Given the description of an element on the screen output the (x, y) to click on. 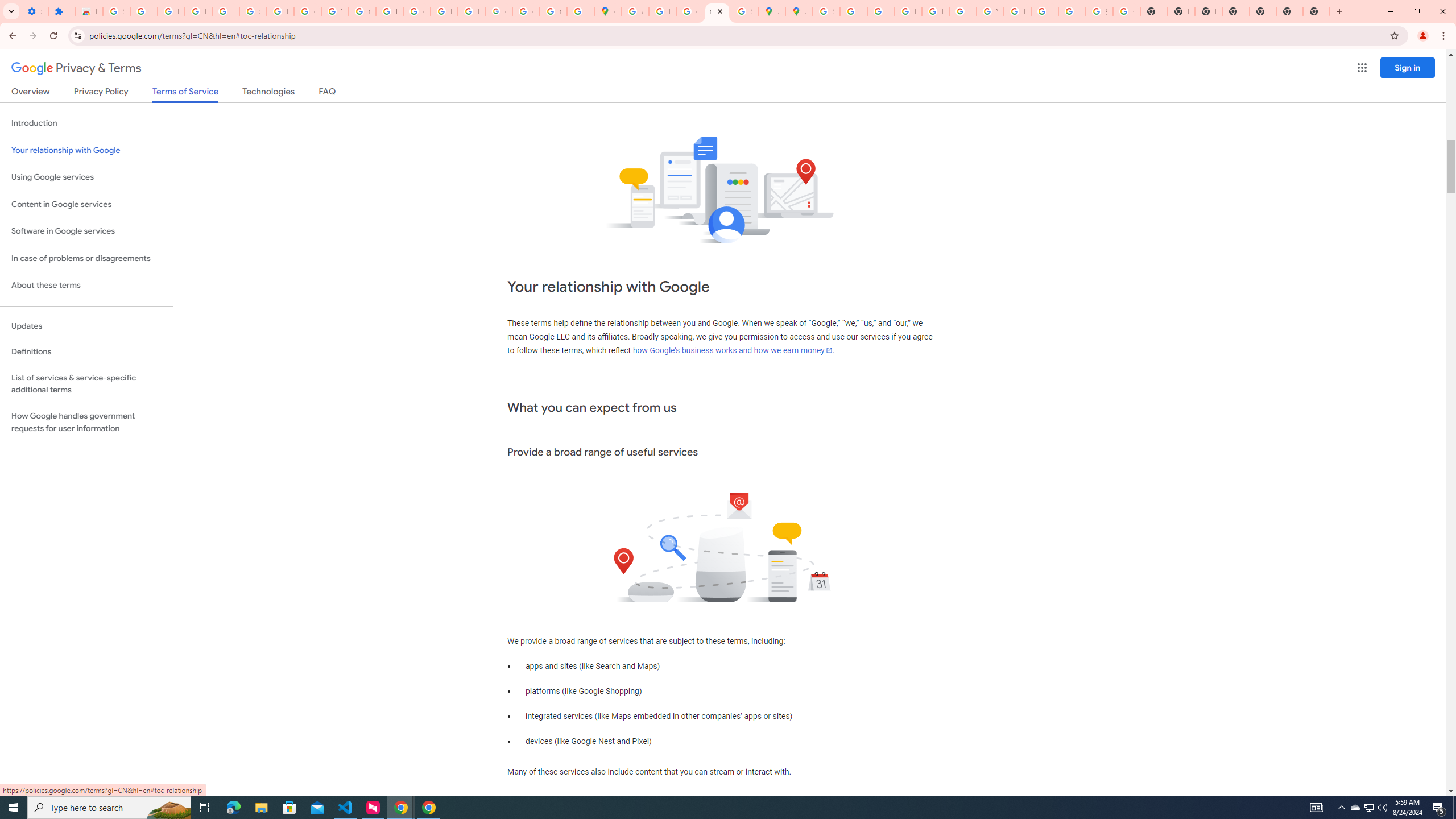
Delete photos & videos - Computer - Google Photos Help (170, 11)
New Tab (1236, 11)
Google Account (307, 11)
